Given the description of an element on the screen output the (x, y) to click on. 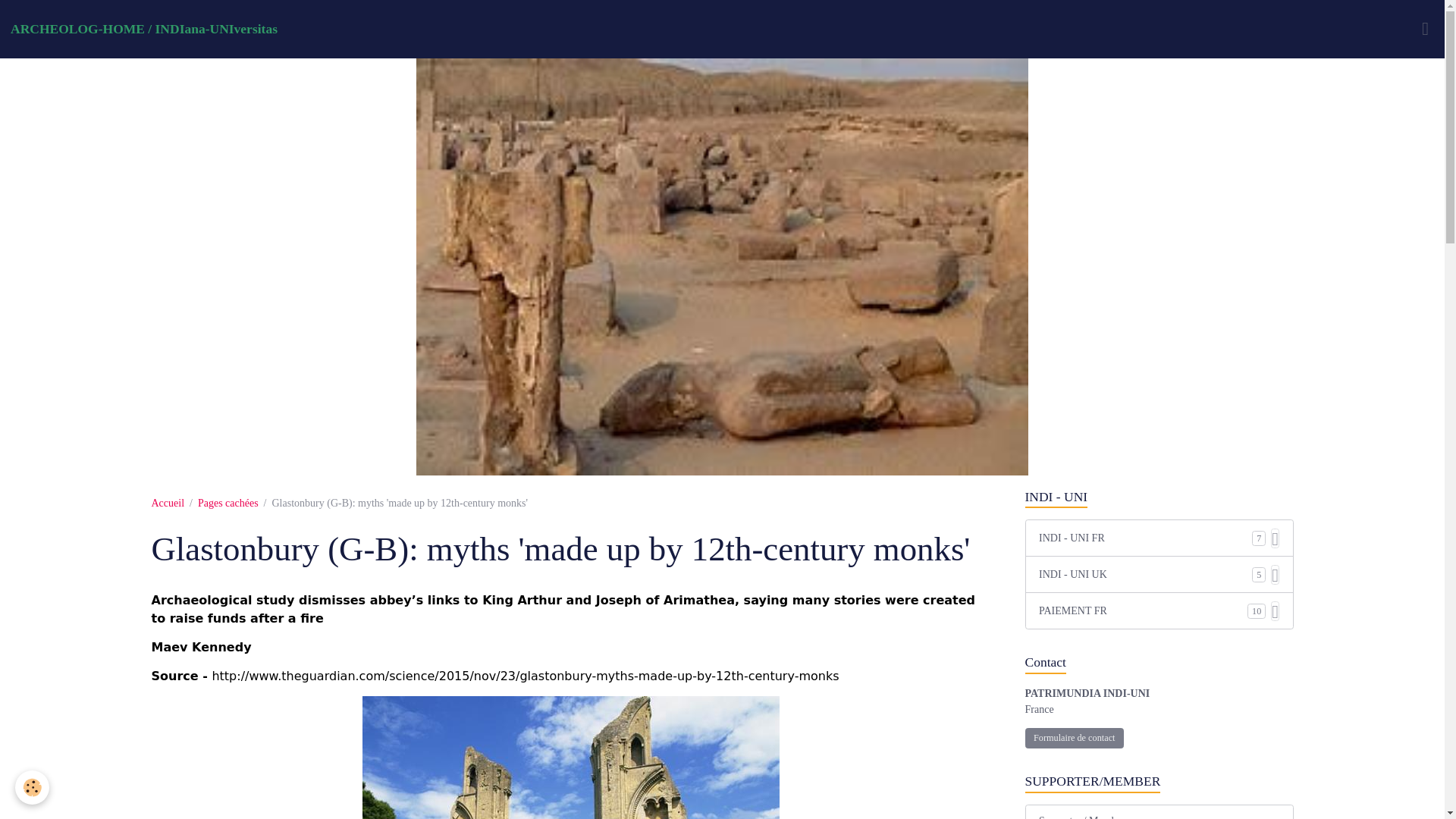
PAIEMENT FR (1143, 610)
INDI - UNI (1159, 496)
INDI - UNI UK (1145, 574)
Formulaire de contact (1074, 738)
INDI - UNI FR (1145, 537)
Accueil (167, 502)
